Given the description of an element on the screen output the (x, y) to click on. 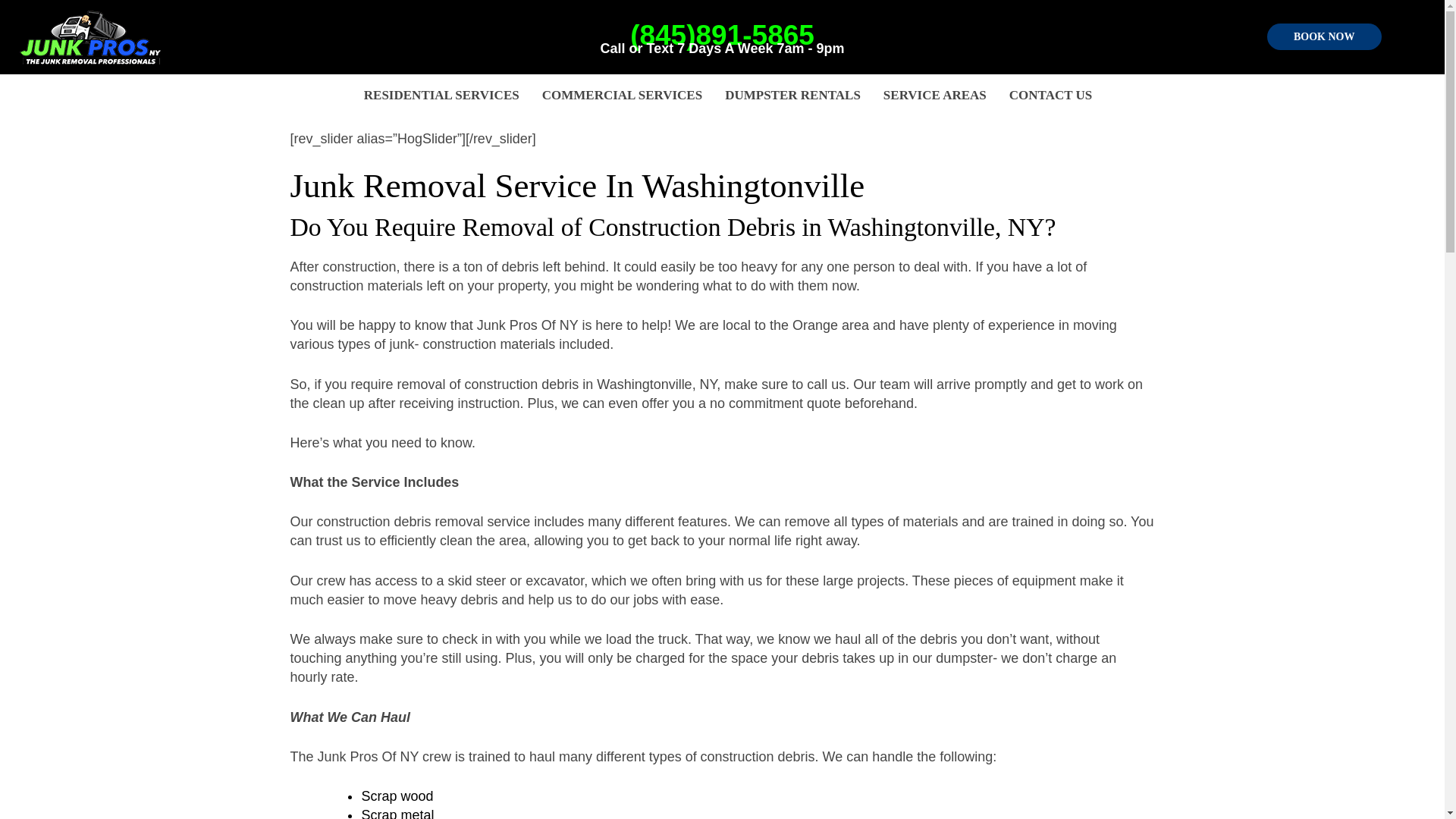
BOOK NOW (1323, 36)
COMMERCIAL SERVICES (621, 95)
RESIDENTIAL SERVICES (441, 95)
